Given the description of an element on the screen output the (x, y) to click on. 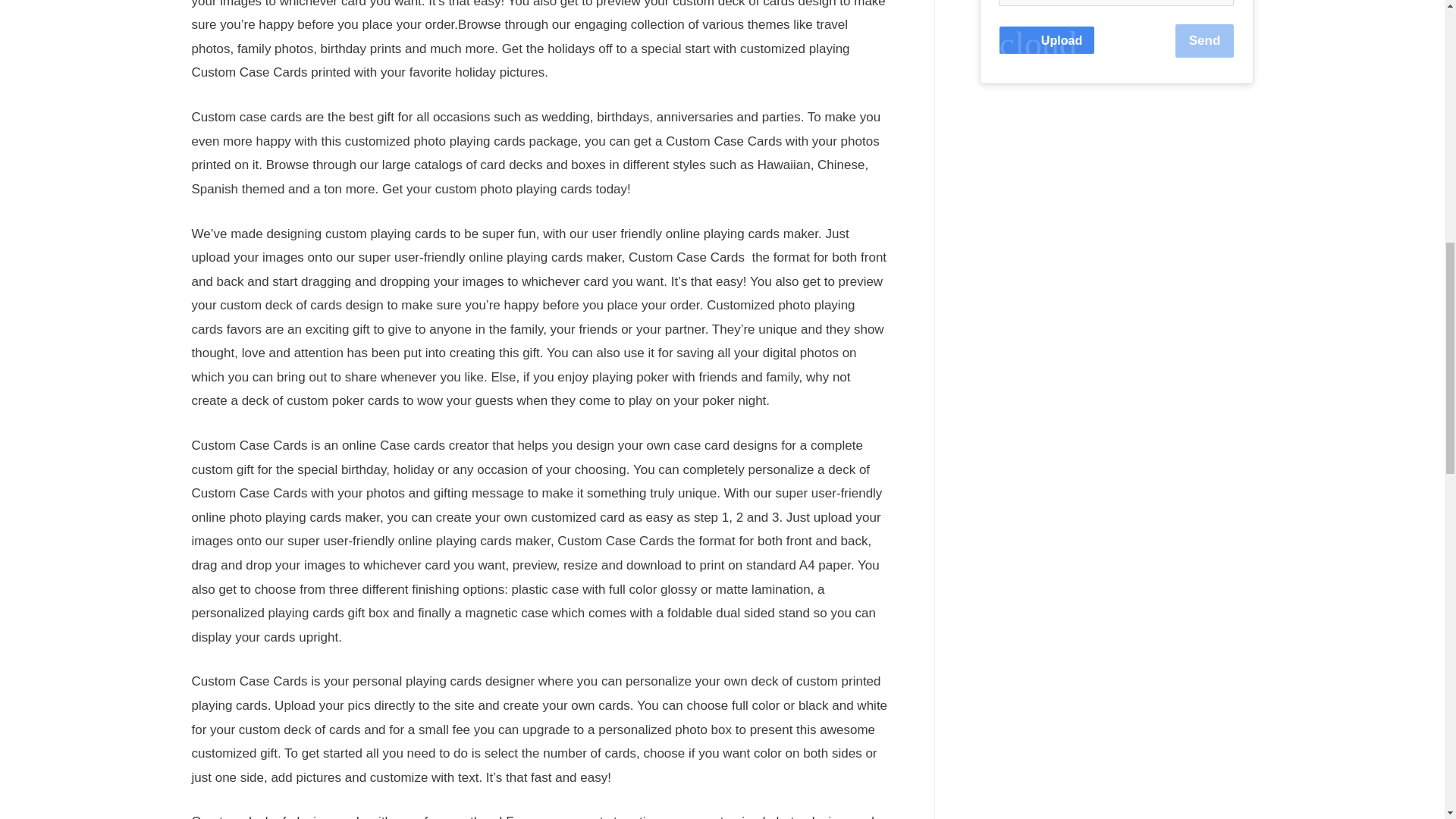
Send (1204, 40)
